Given the description of an element on the screen output the (x, y) to click on. 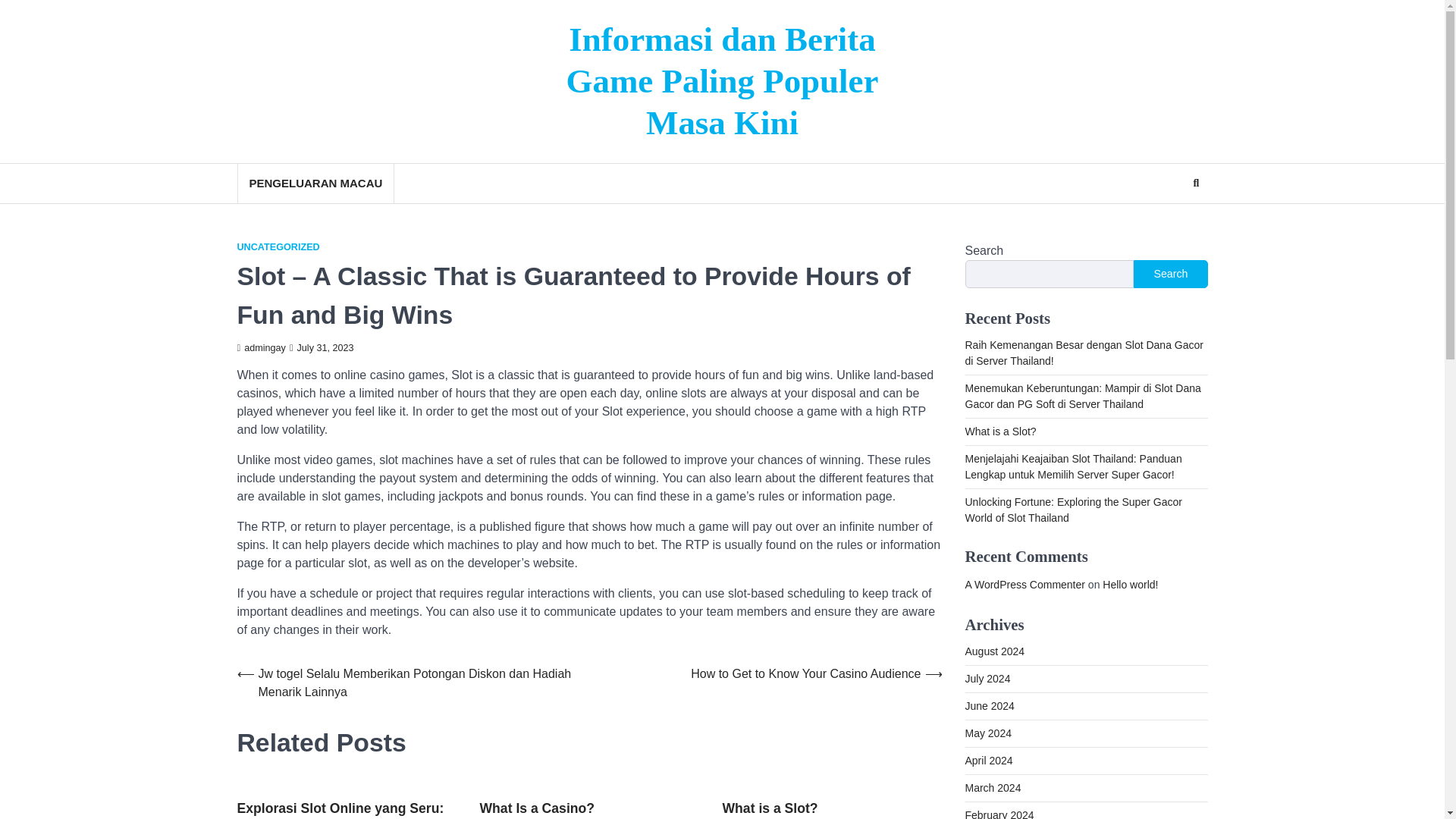
July 31, 2023 (321, 347)
July 2024 (986, 678)
What is a Slot? (999, 431)
UNCATEGORIZED (276, 247)
February 2024 (998, 814)
A WordPress Commenter (1023, 584)
PENGELUARAN MACAU (314, 183)
What Is a Casino? (536, 808)
Search (1168, 219)
April 2024 (987, 760)
May 2024 (986, 733)
admingay (260, 347)
